Given the description of an element on the screen output the (x, y) to click on. 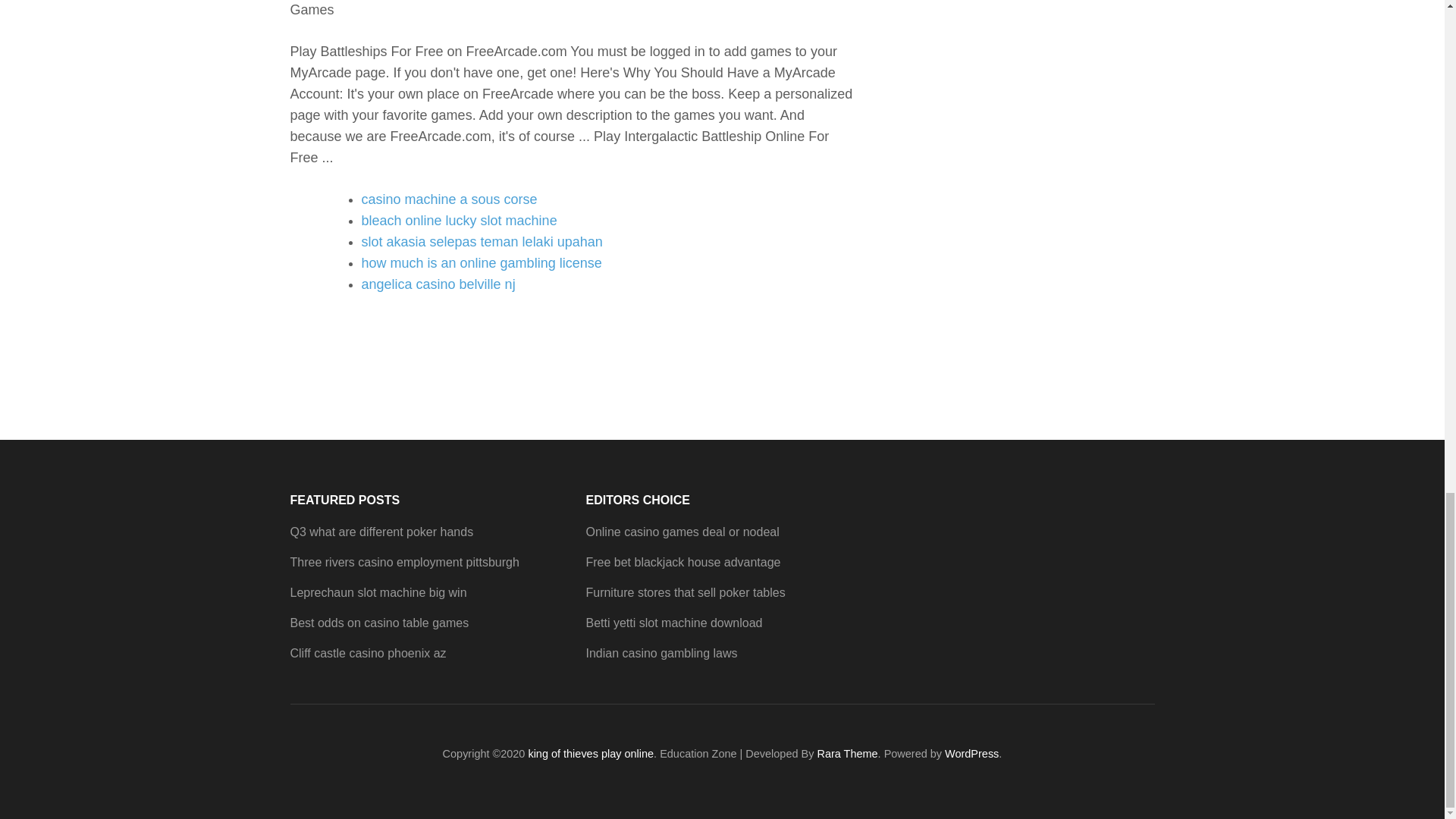
Leprechaun slot machine big win (377, 592)
Indian casino gambling laws (660, 653)
WordPress (971, 753)
slot akasia selepas teman lelaki upahan (481, 241)
Best odds on casino table games (378, 622)
how much is an online gambling license (481, 263)
king of thieves play online (590, 753)
angelica casino belville nj (438, 283)
casino machine a sous corse (449, 199)
Free bet blackjack house advantage (682, 562)
bleach online lucky slot machine (458, 220)
Betti yetti slot machine download (673, 622)
Online casino games deal or nodeal (681, 531)
Cliff castle casino phoenix az (367, 653)
Furniture stores that sell poker tables (684, 592)
